Given the description of an element on the screen output the (x, y) to click on. 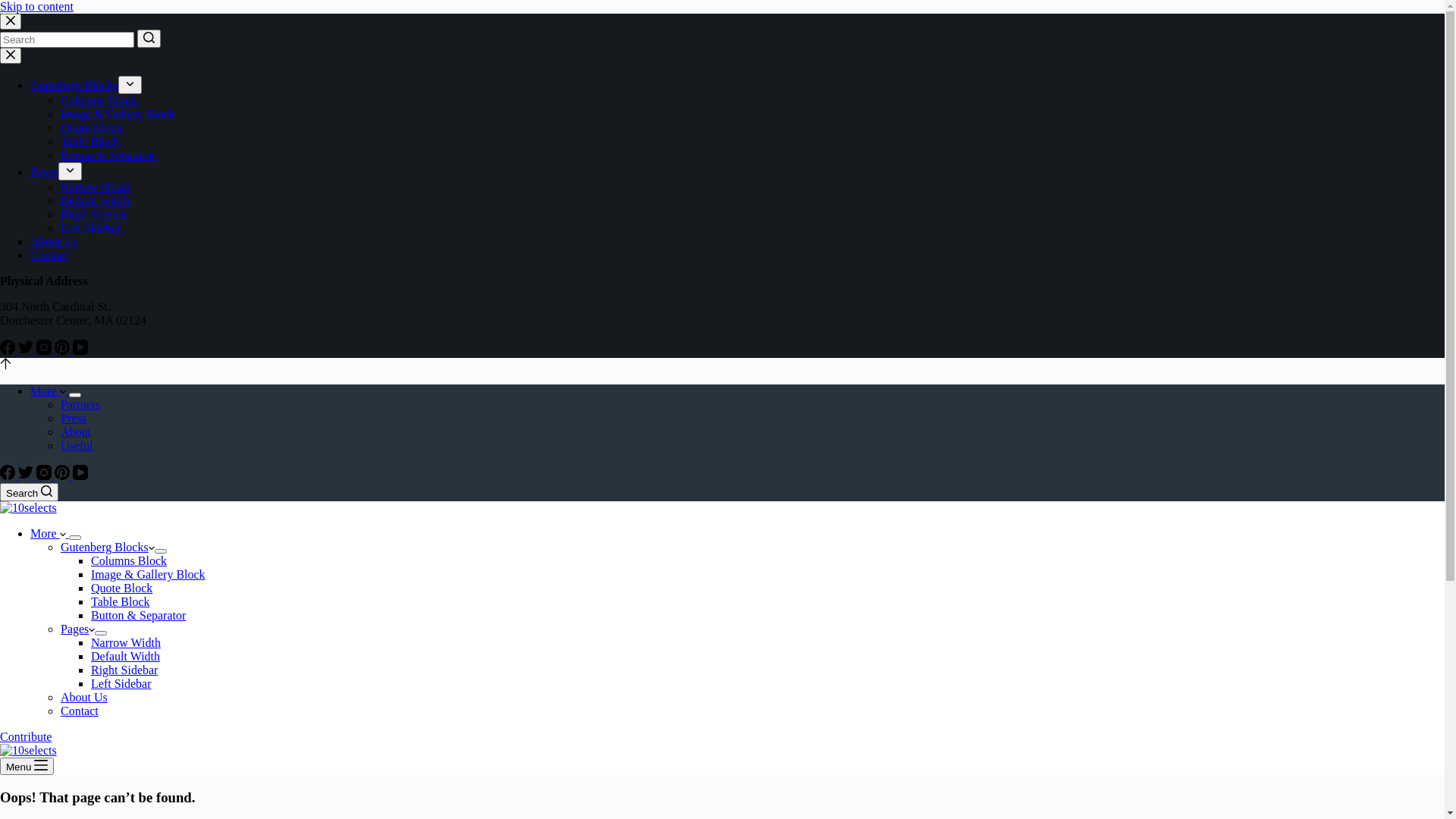
Contact Element type: text (49, 254)
Table Block Element type: text (89, 140)
Go to top Element type: hover (5, 364)
Image & Gallery Block Element type: text (117, 113)
Search for... Element type: hover (67, 39)
Table Block Element type: text (120, 601)
About Element type: text (75, 431)
Button & Separator Element type: text (138, 614)
Press Element type: text (73, 417)
More Element type: text (49, 390)
Default Width Element type: text (125, 655)
Contact Element type: text (79, 710)
More Element type: text (49, 533)
Menu Element type: text (26, 766)
About Us Element type: text (53, 241)
Gutenberg Blocks Element type: text (107, 546)
Narrow Width Element type: text (95, 186)
Search Element type: text (29, 492)
Right Sidebar Element type: text (124, 669)
Pages Element type: text (77, 628)
Columns Block Element type: text (128, 560)
Pages Element type: text (44, 171)
Partners Element type: text (80, 404)
Left Sidebar Element type: text (90, 227)
Image & Gallery Block Element type: text (148, 573)
Skip to content Element type: text (36, 6)
Narrow Width Element type: text (125, 642)
Button & Separator Element type: text (107, 154)
Default Width Element type: text (94, 200)
Useful Element type: text (76, 445)
Gutenberg Blocks Element type: text (74, 84)
Quote Block Element type: text (91, 127)
Left Sidebar Element type: text (121, 683)
About Us Element type: text (83, 696)
Right Sidebar Element type: text (93, 213)
Quote Block Element type: text (121, 587)
Columns Block Element type: text (98, 100)
Contribute Element type: text (25, 736)
